Given the description of an element on the screen output the (x, y) to click on. 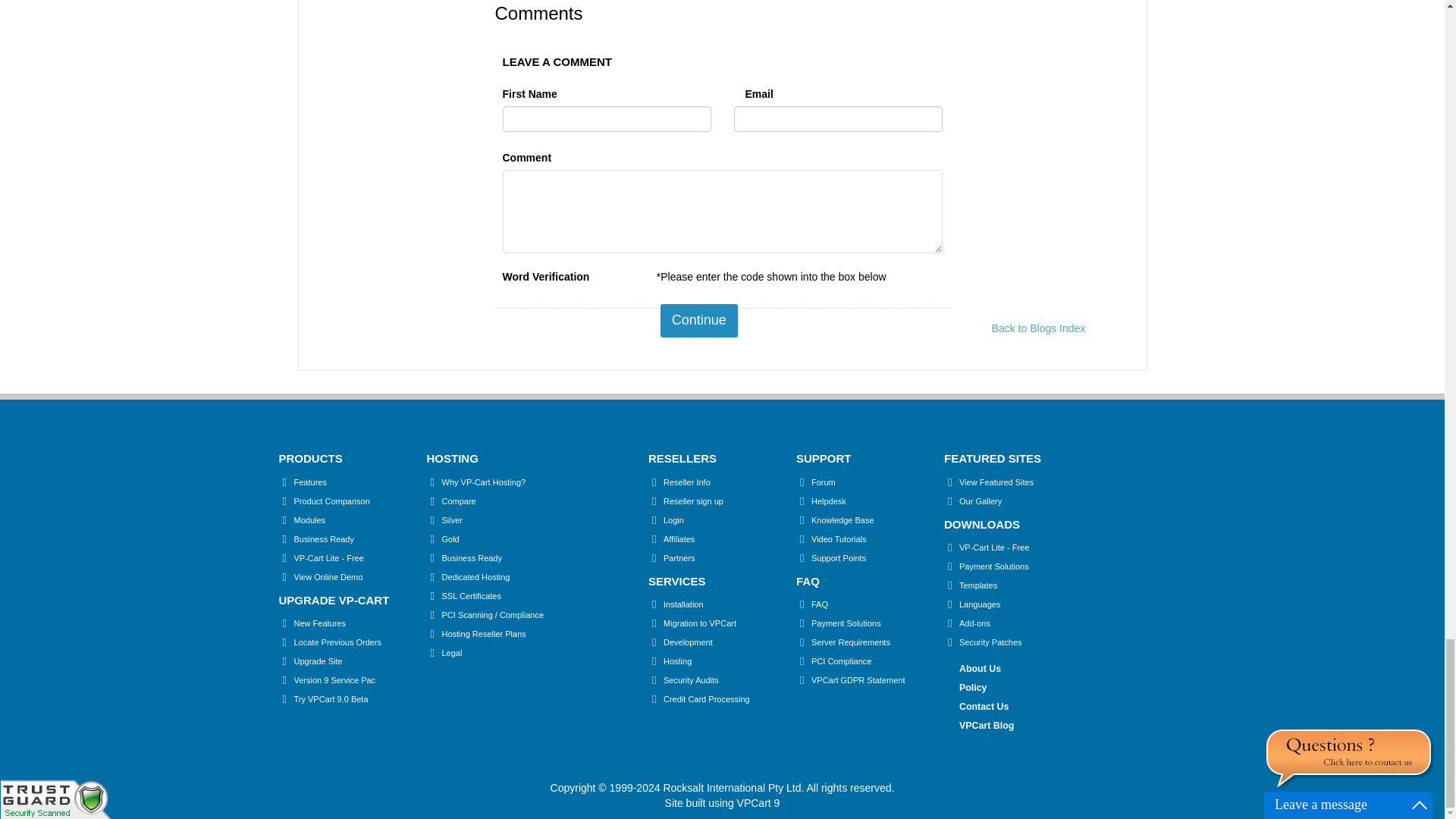
 Continue  (699, 320)
